Given the description of an element on the screen output the (x, y) to click on. 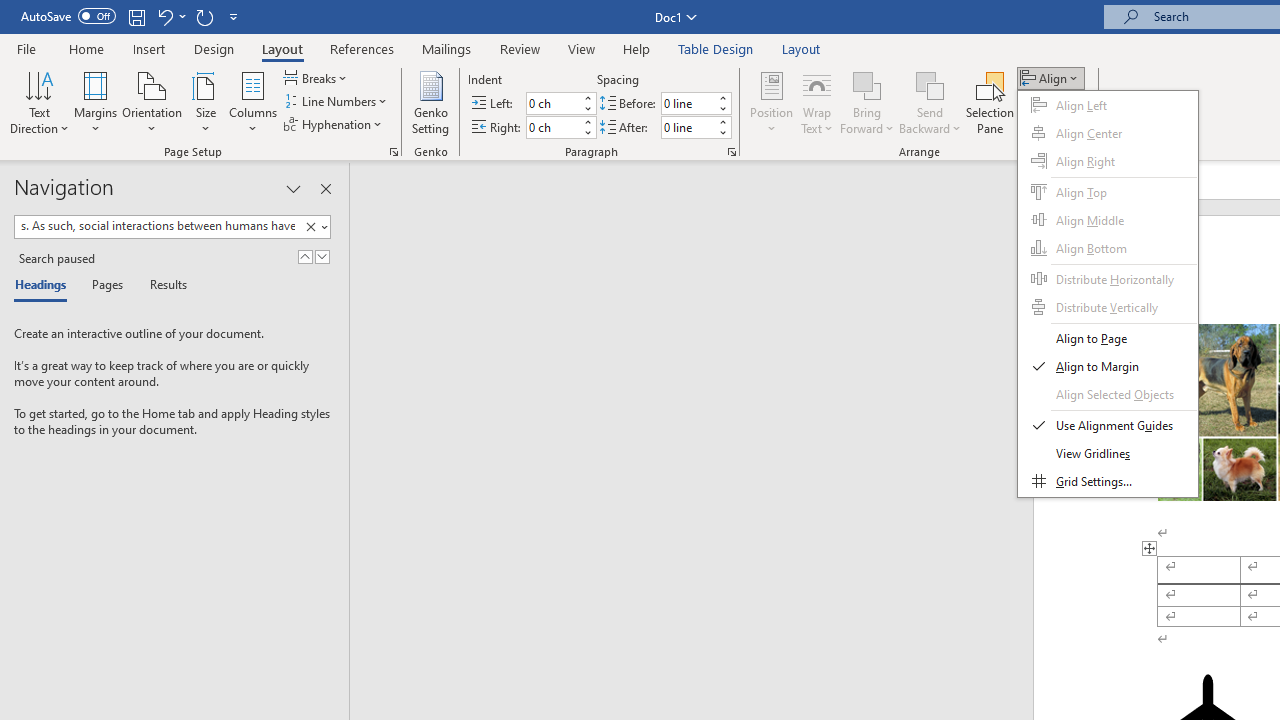
Bring Forward (867, 102)
Align (1051, 78)
Previous Result (304, 256)
Undo Style (170, 15)
Columns (253, 102)
Spacing Before (687, 103)
Line Numbers (337, 101)
Genko Setting... (430, 102)
Clear (310, 227)
